Given the description of an element on the screen output the (x, y) to click on. 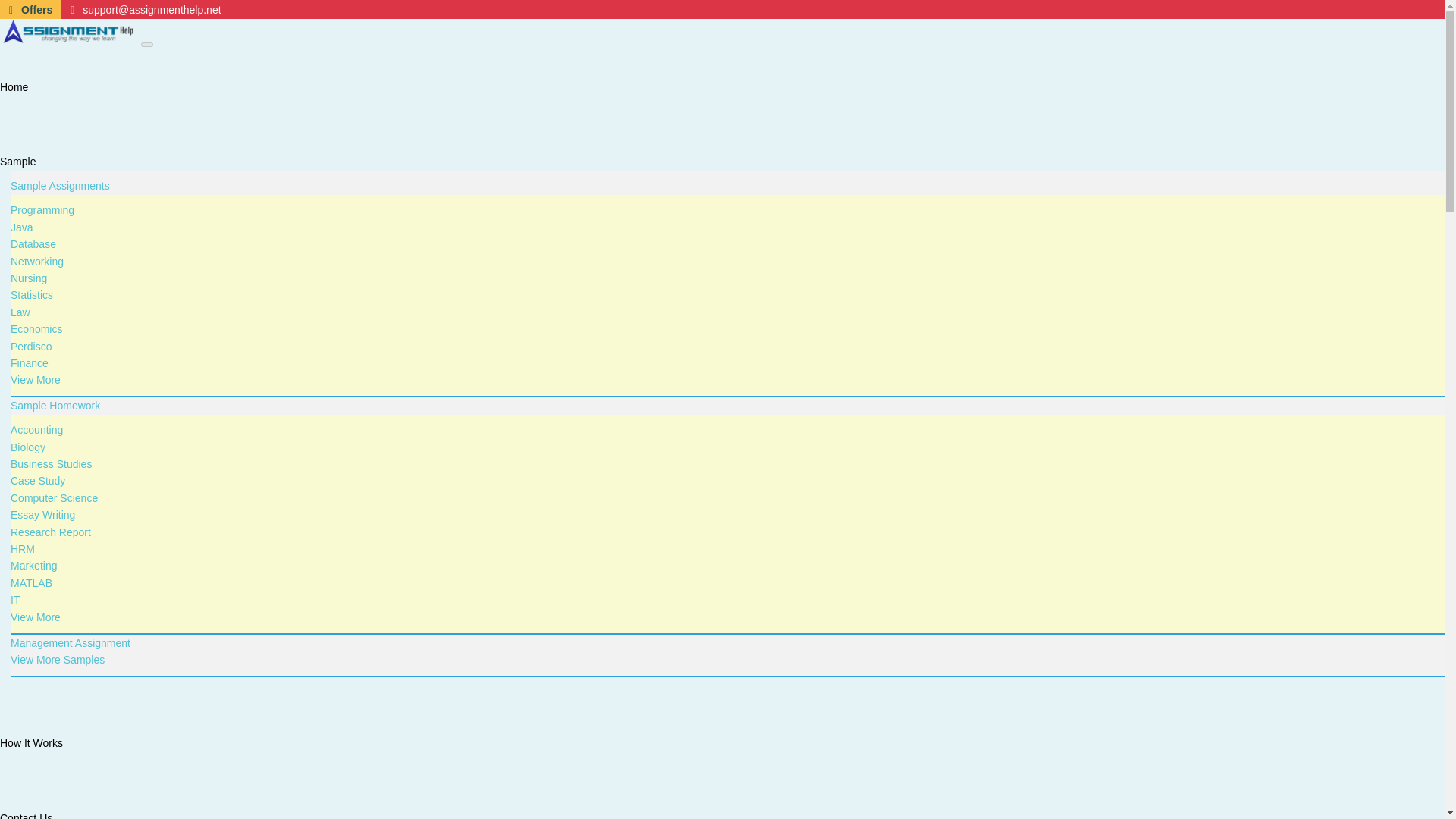
Biology (27, 447)
Finance (29, 363)
Java (21, 227)
Research Report (50, 532)
Home (13, 87)
 Offers (30, 9)
Economics (36, 328)
Essay Writing (42, 514)
View More (35, 379)
View More Samples (57, 659)
MATLAB (31, 582)
Marketing (33, 565)
Business Studies (50, 463)
Statistics (31, 295)
Database (33, 244)
